Given the description of an element on the screen output the (x, y) to click on. 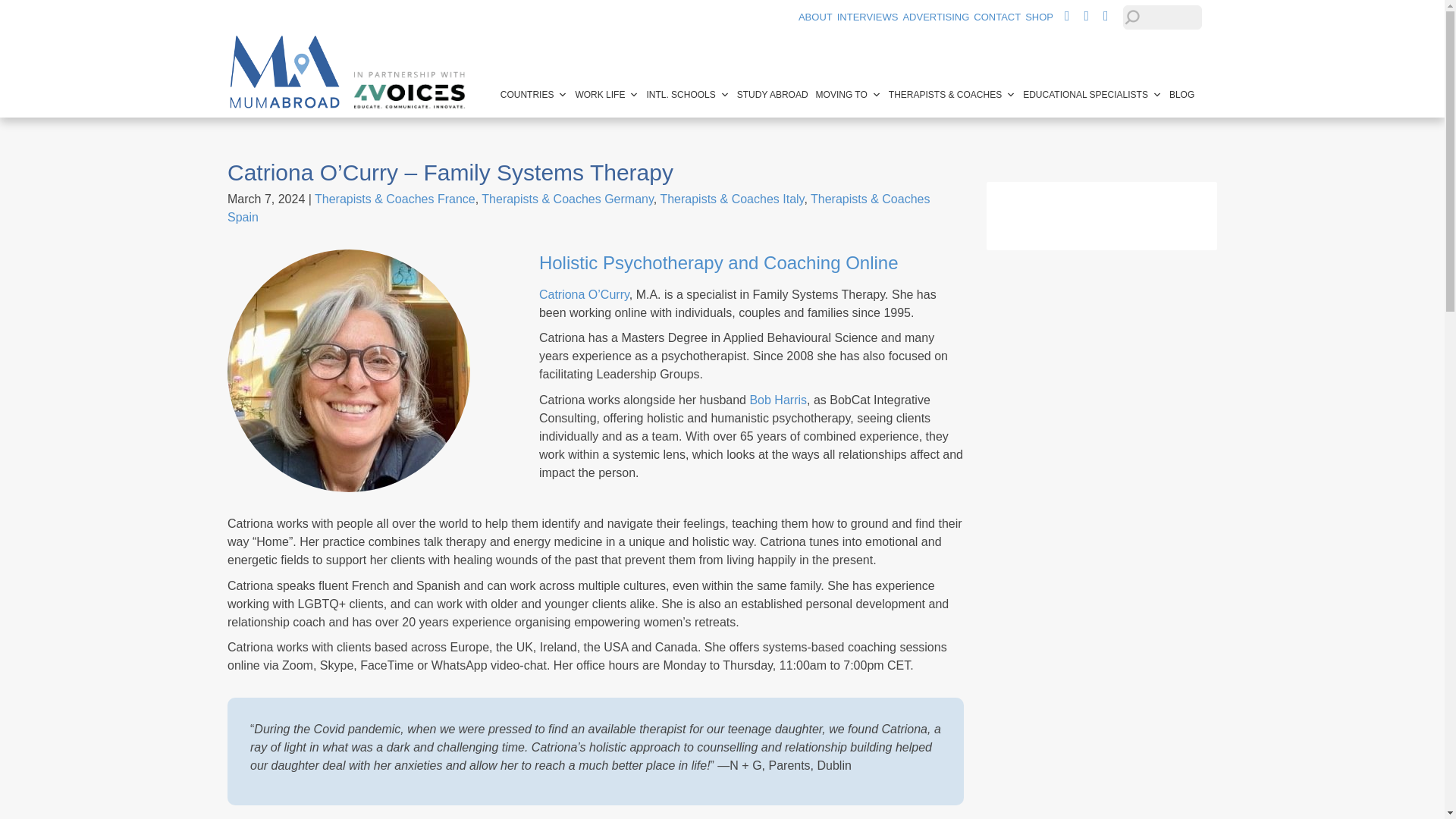
Search (25, 11)
SHOP (1038, 16)
ABOUT (814, 16)
COUNTRIES (534, 94)
ADVERTISING (935, 16)
Search for: (1162, 16)
INTERVIEWS (867, 16)
CONTACT (997, 16)
